Given the description of an element on the screen output the (x, y) to click on. 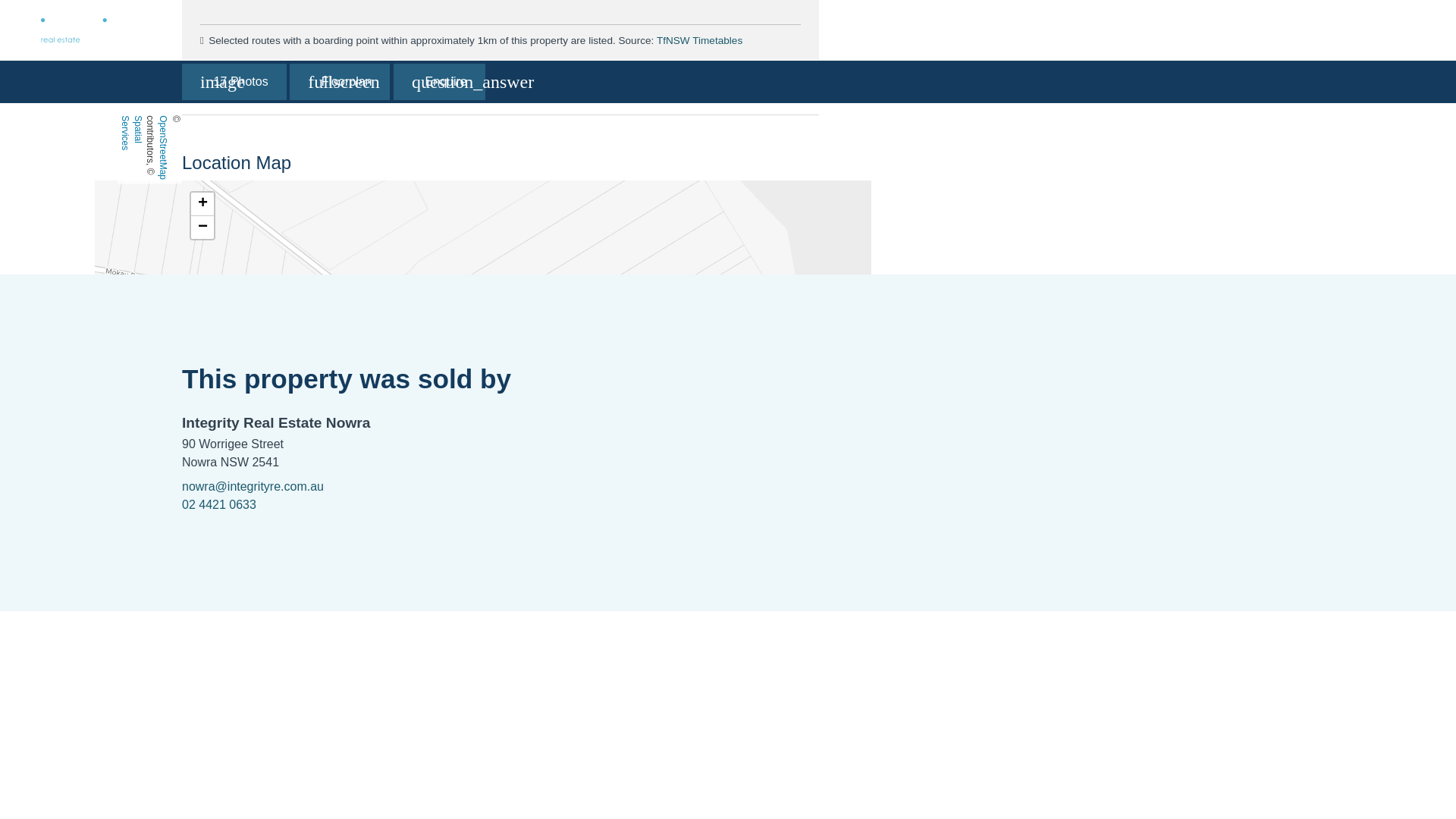
Zoom out (202, 227)
Zoom in (202, 204)
